Given the description of an element on the screen output the (x, y) to click on. 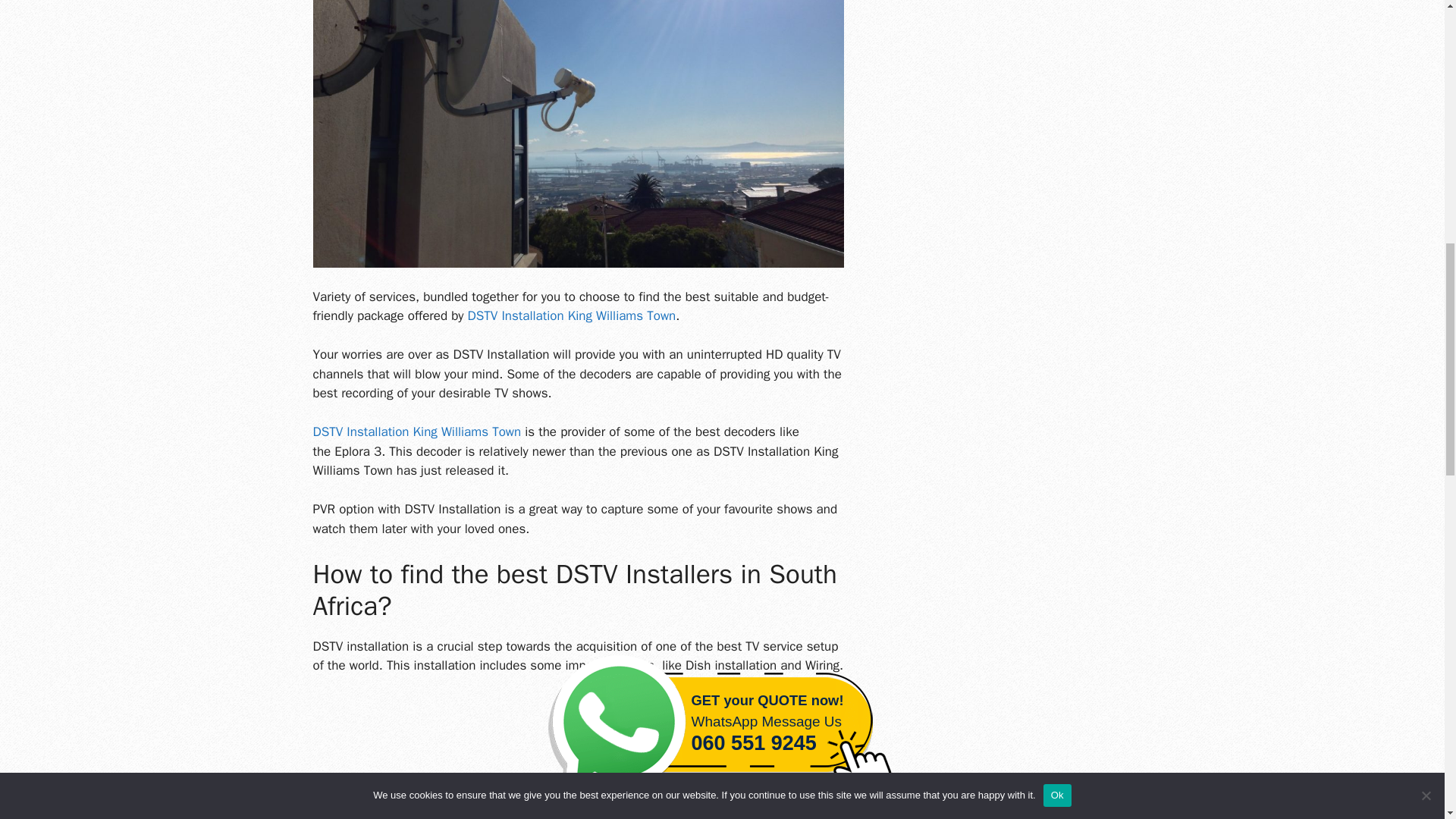
DSTV Installation King Williams Town (417, 431)
DSTV Installation King Williams Town (572, 315)
